Given the description of an element on the screen output the (x, y) to click on. 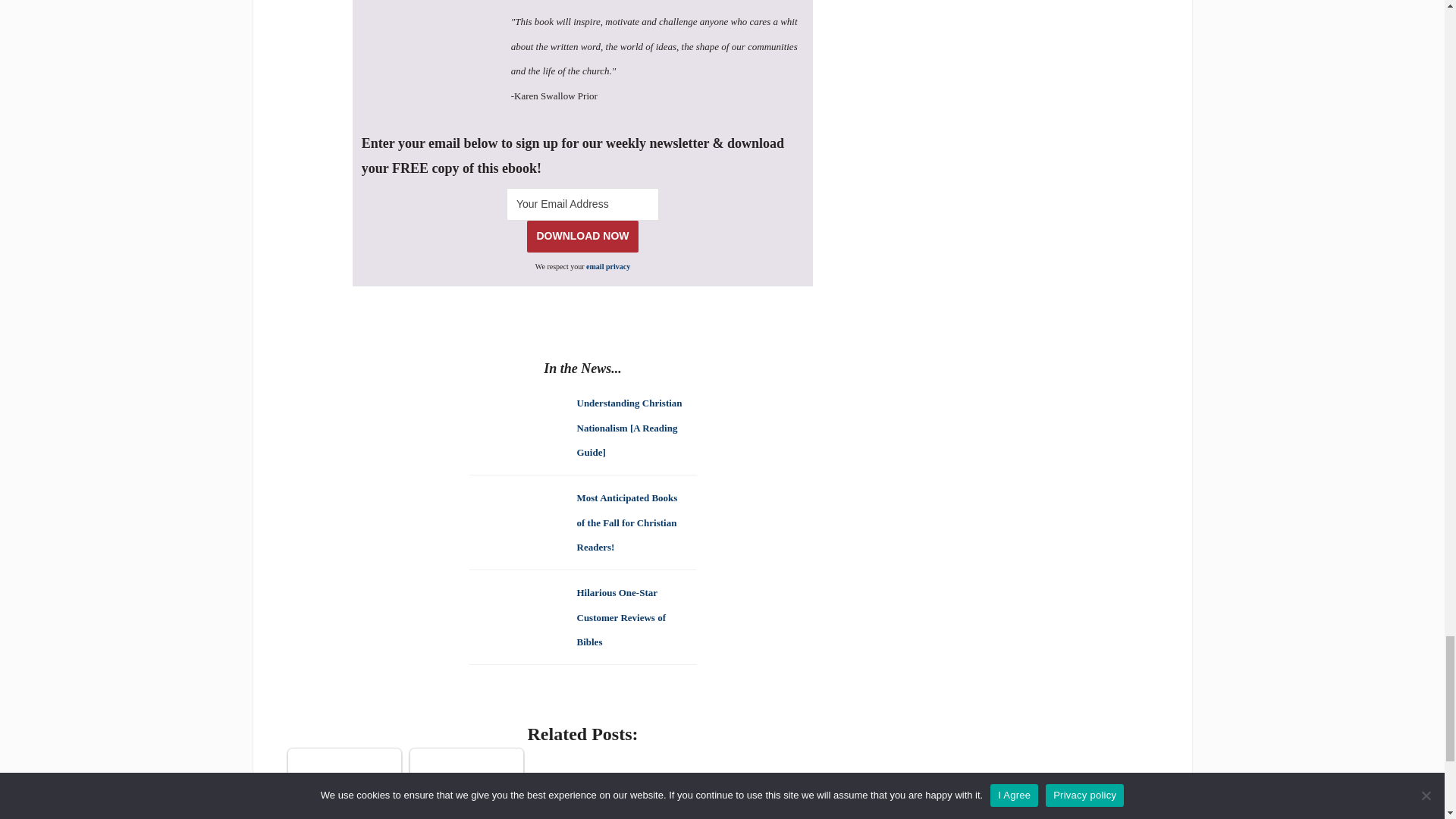
Privacy Policy (608, 266)
DOWNLOAD NOW (582, 235)
Classic Gratitude Poems - Joy Harjo, Mary Oliver, MORE (344, 771)
Hilarious One-Star Customer Reviews of Bibles (620, 615)
DOWNLOAD NOW (582, 235)
Most Anticipated Books of the Fall for Christian Readers! (626, 520)
email privacy (608, 266)
Your Email Address (582, 204)
